Given the description of an element on the screen output the (x, y) to click on. 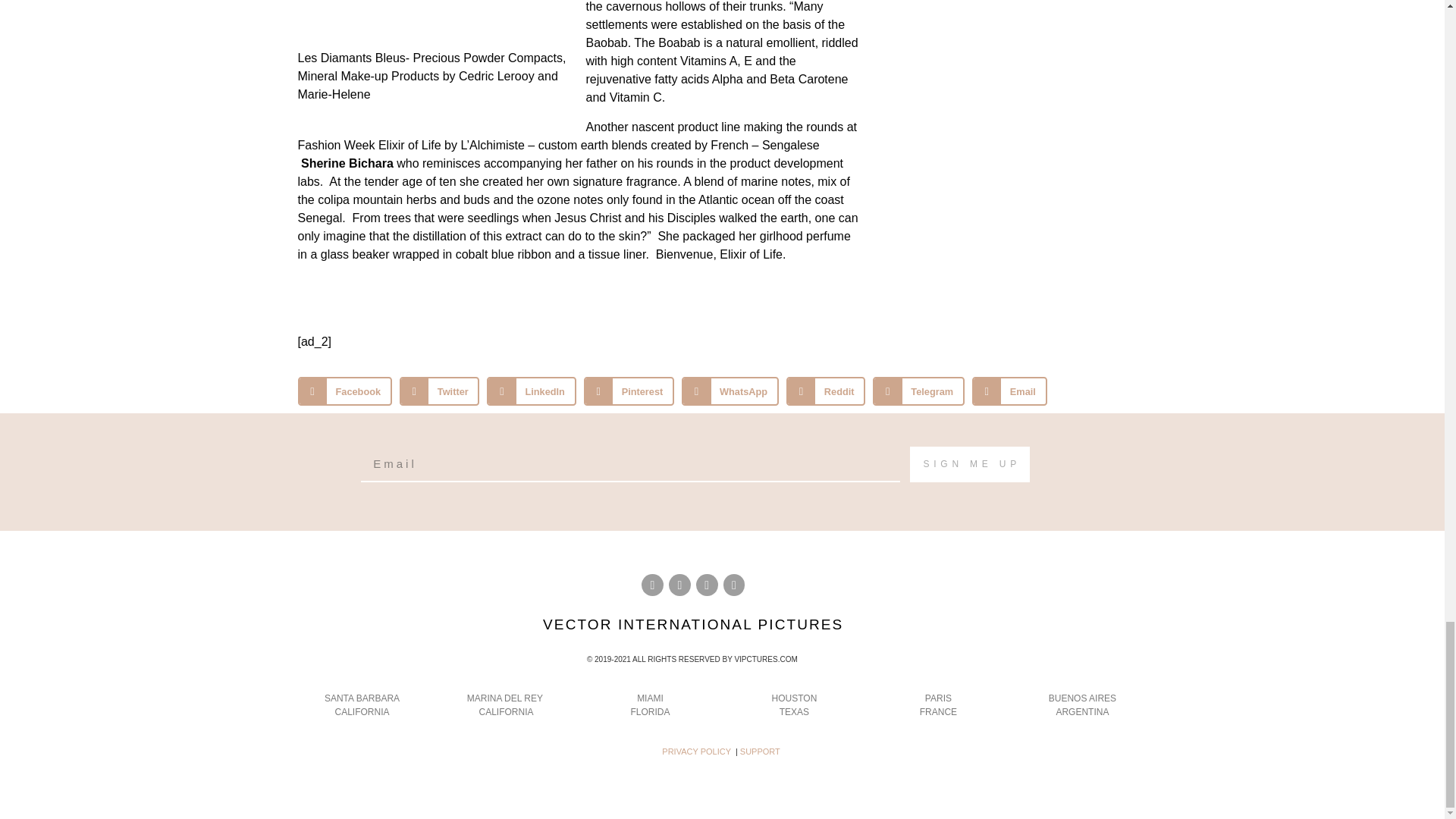
SIGN ME UP (969, 464)
SUPPORT (759, 750)
PRIVACY POLICY (696, 750)
